Given the description of an element on the screen output the (x, y) to click on. 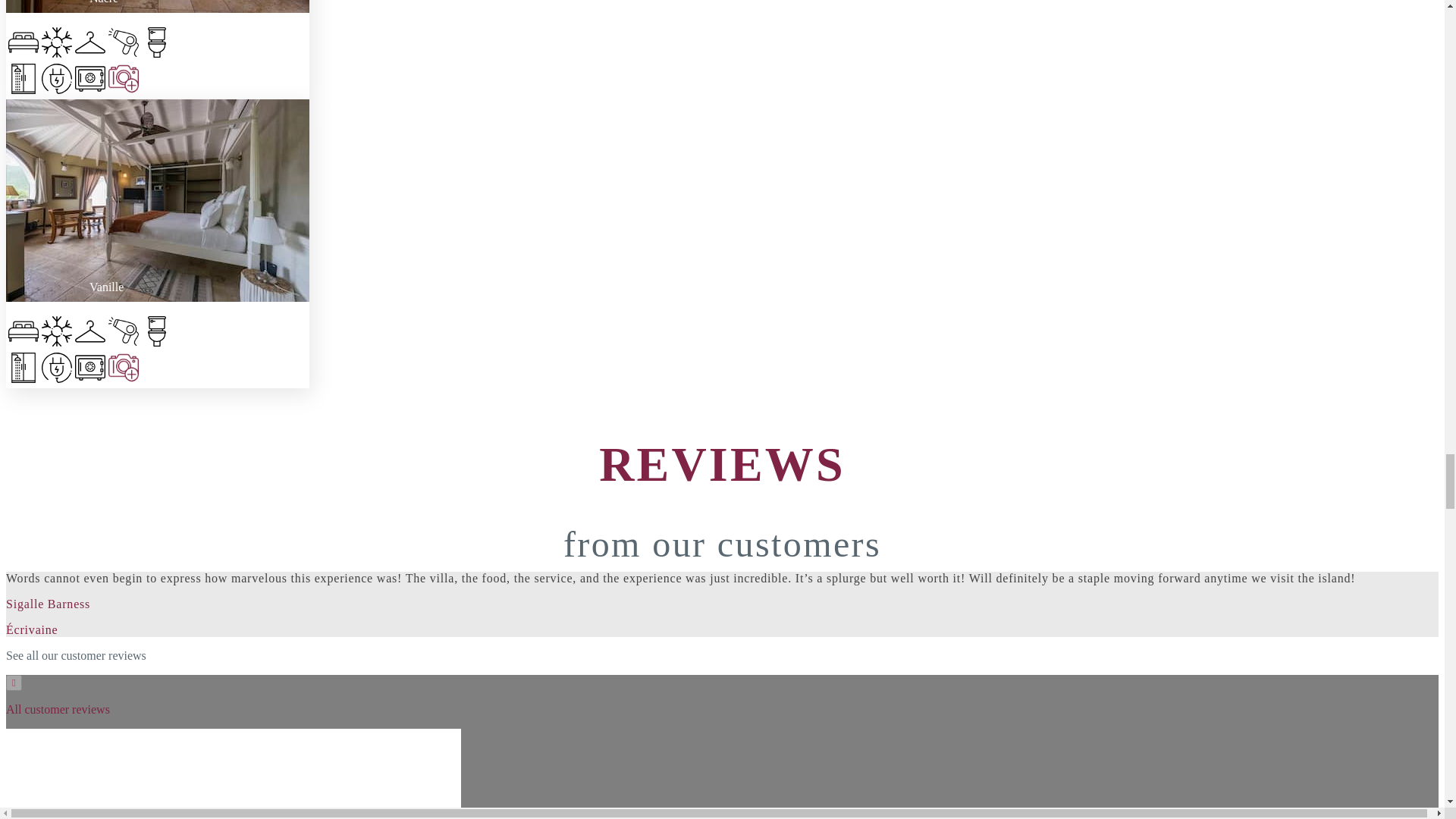
Shower (23, 369)
King size (23, 332)
Shower (23, 80)
King size (23, 43)
